Given the description of an element on the screen output the (x, y) to click on. 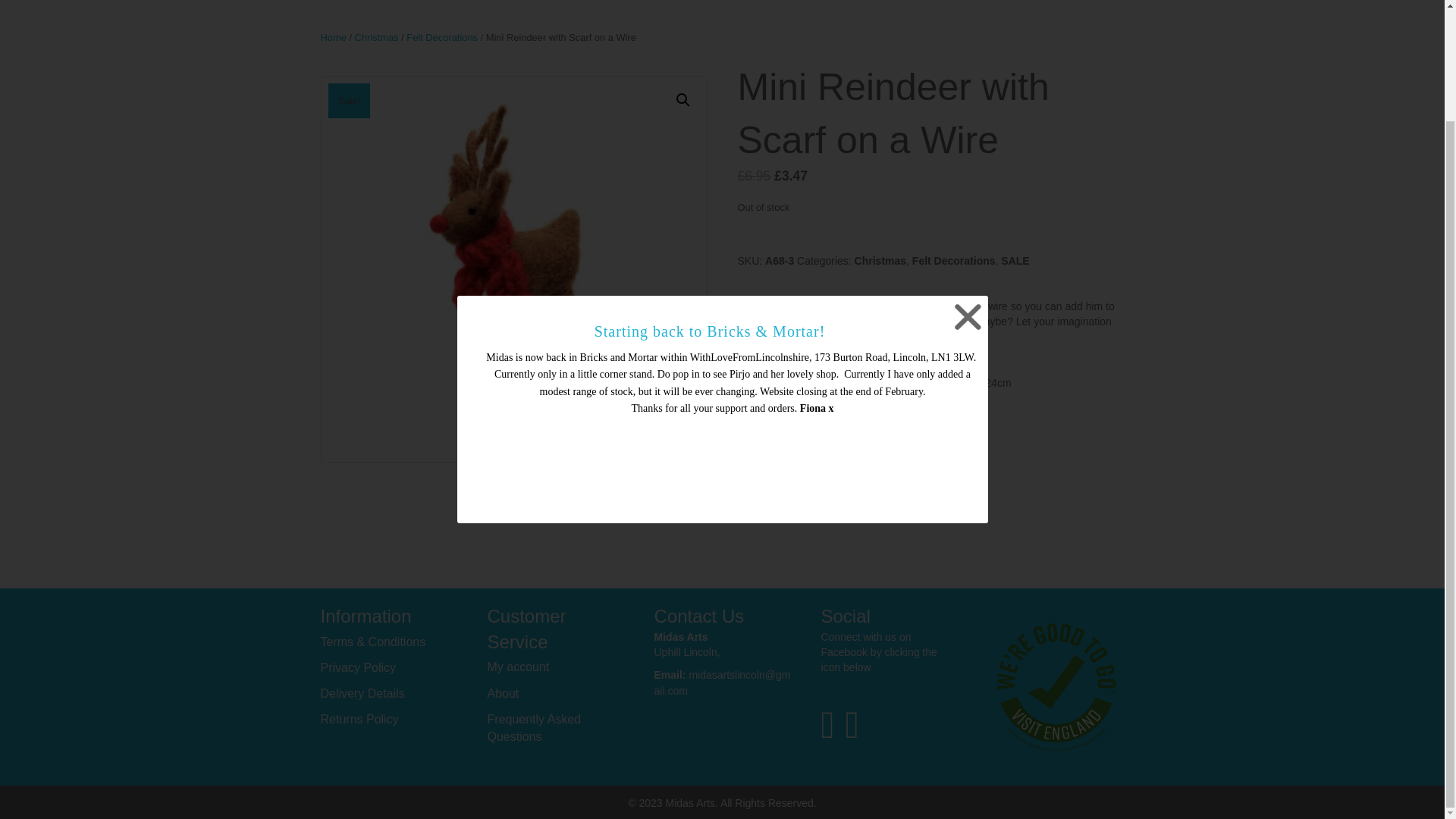
Good To Go png (1055, 687)
